Given the description of an element on the screen output the (x, y) to click on. 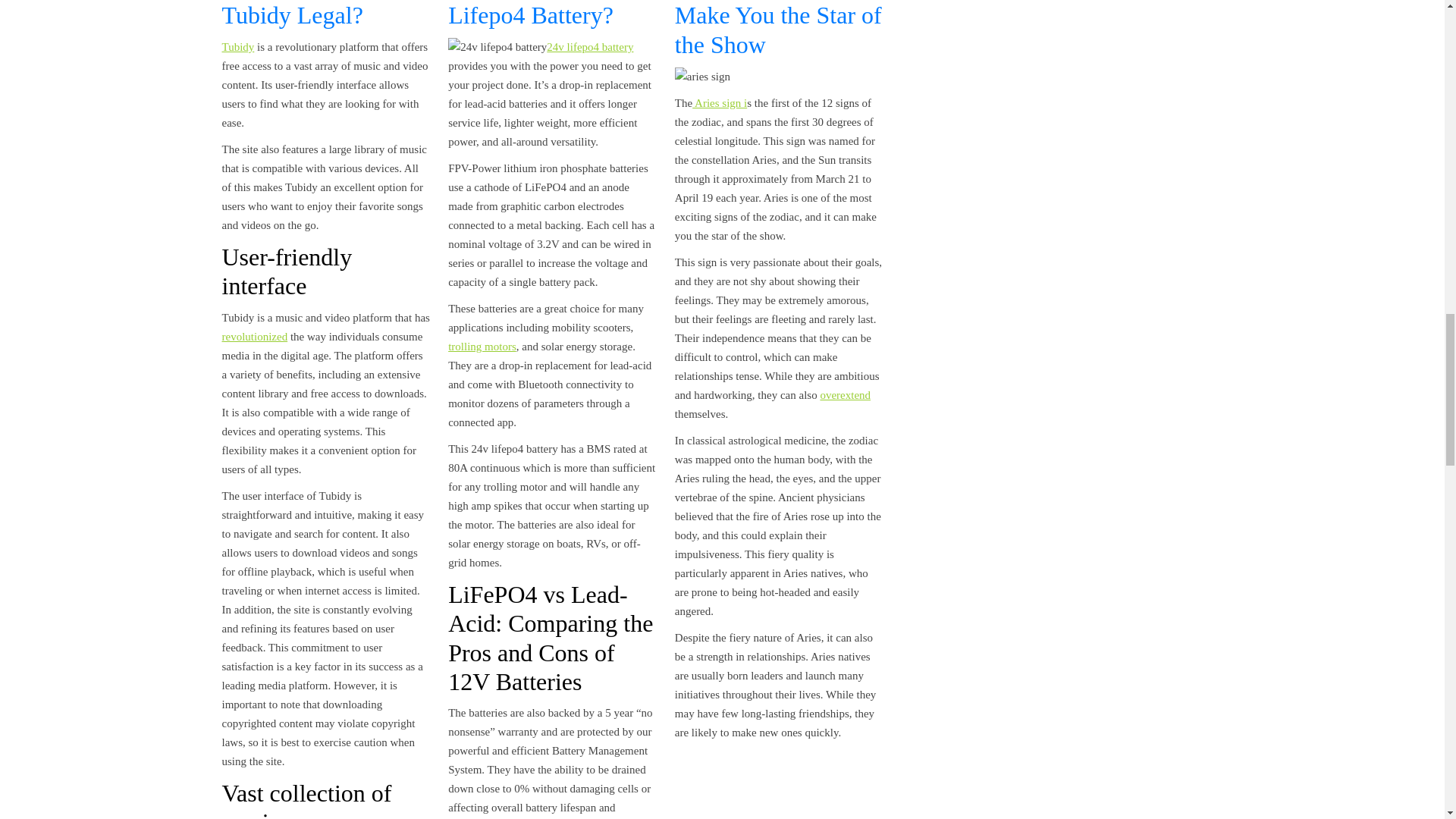
overextend (844, 395)
Aries sign i (719, 102)
trolling motors (482, 346)
24v lifepo4 battery (590, 46)
Tubidy (237, 46)
revolutionized (253, 336)
